Given the description of an element on the screen output the (x, y) to click on. 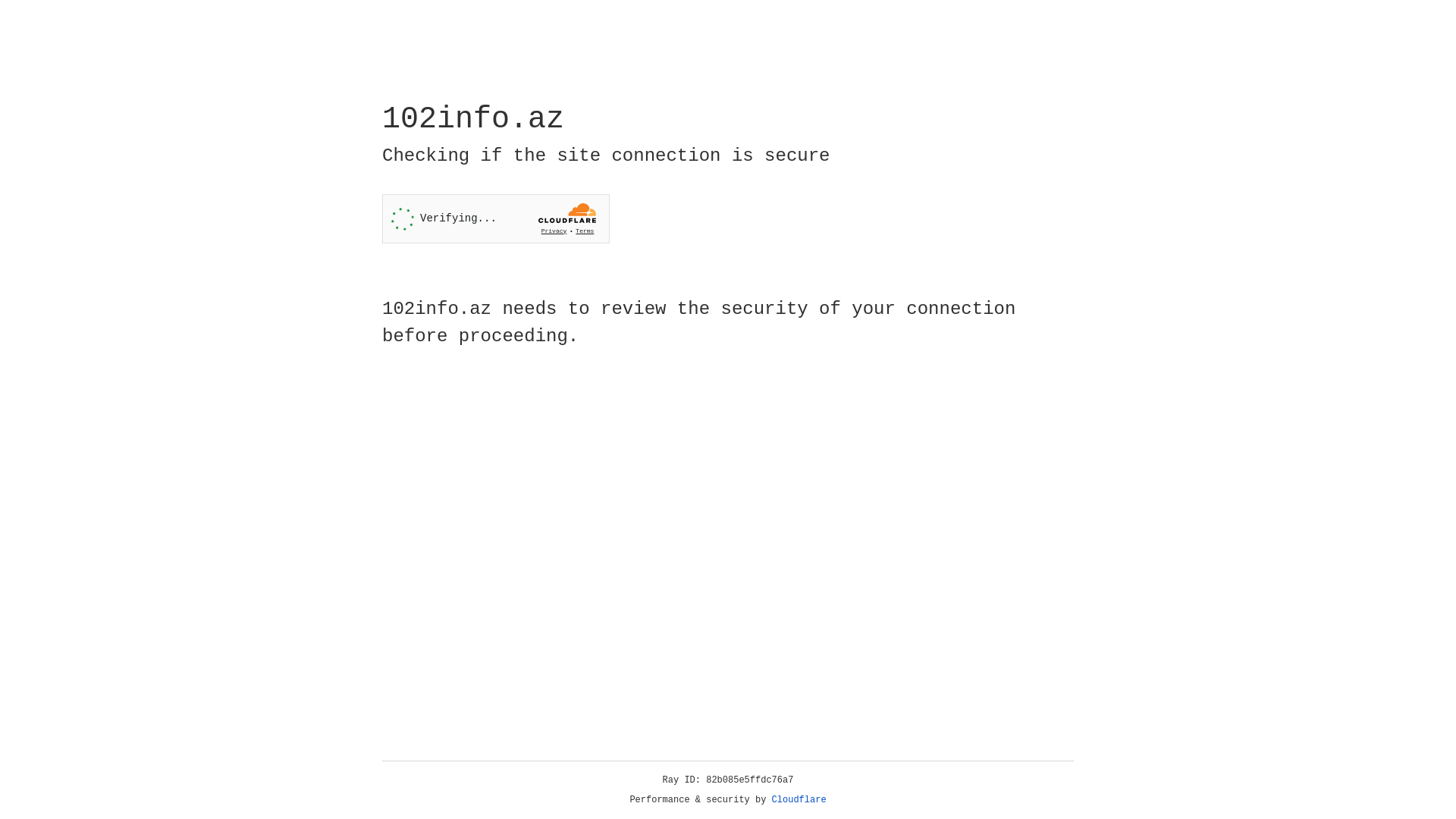
Widget containing a Cloudflare security challenge Element type: hover (495, 218)
Cloudflare Element type: text (798, 799)
